Given the description of an element on the screen output the (x, y) to click on. 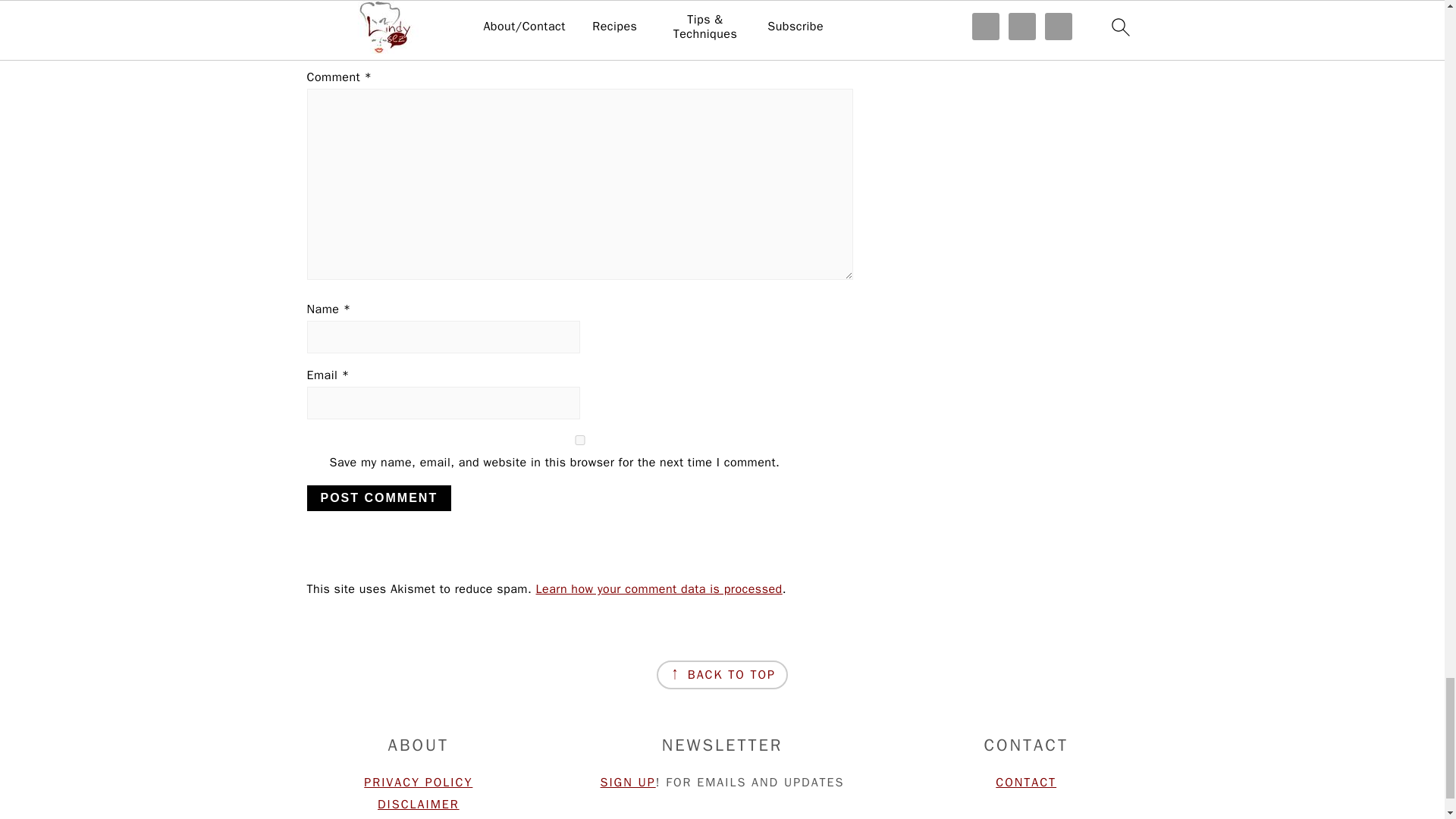
yes (578, 439)
Post Comment (378, 498)
